Given the description of an element on the screen output the (x, y) to click on. 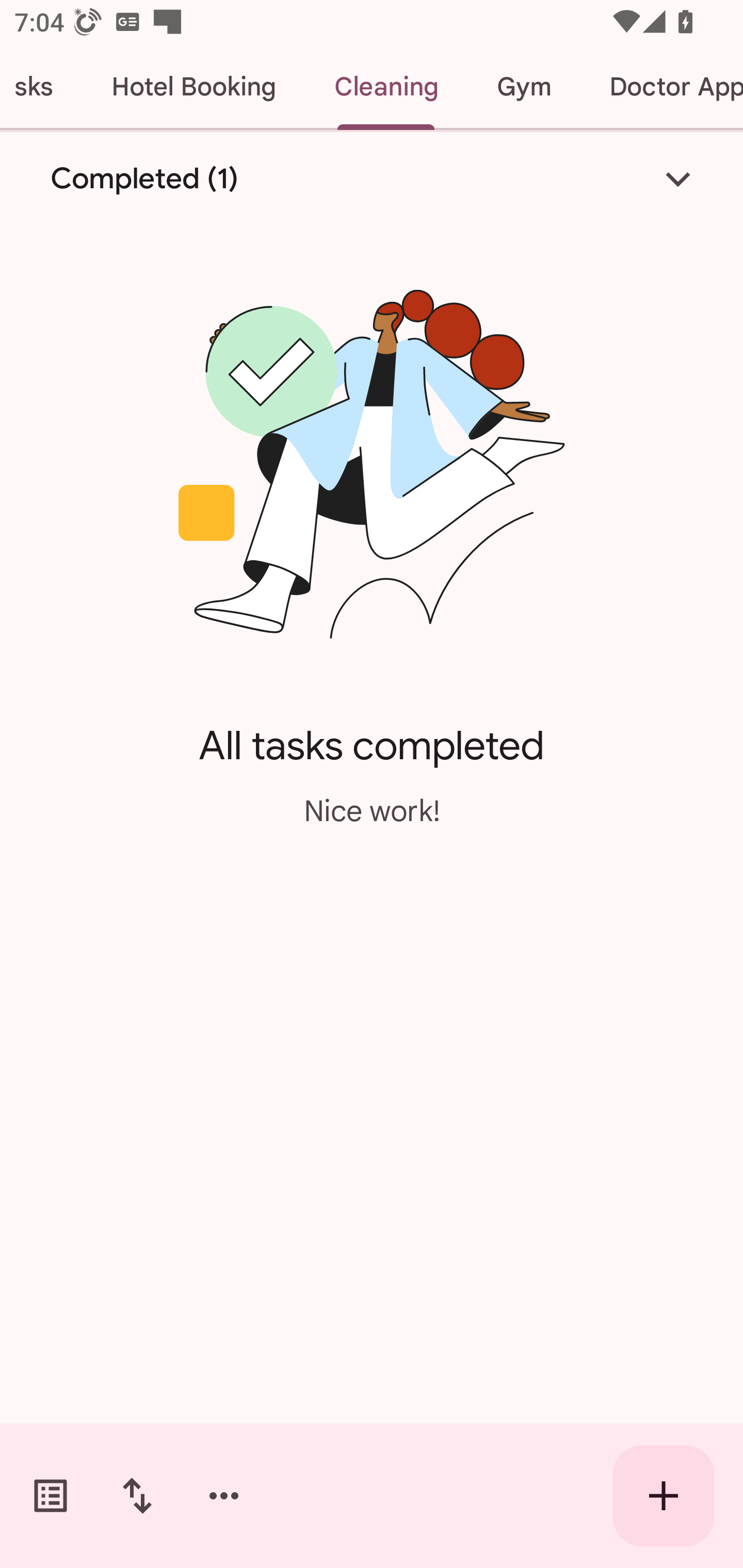
Hotel Booking (192, 86)
Gym (523, 86)
Doctor Appointment (661, 86)
Completed (1) (371, 178)
Switch task lists (50, 1495)
Create new task (663, 1495)
Change sort order (136, 1495)
More options (223, 1495)
